Given the description of an element on the screen output the (x, y) to click on. 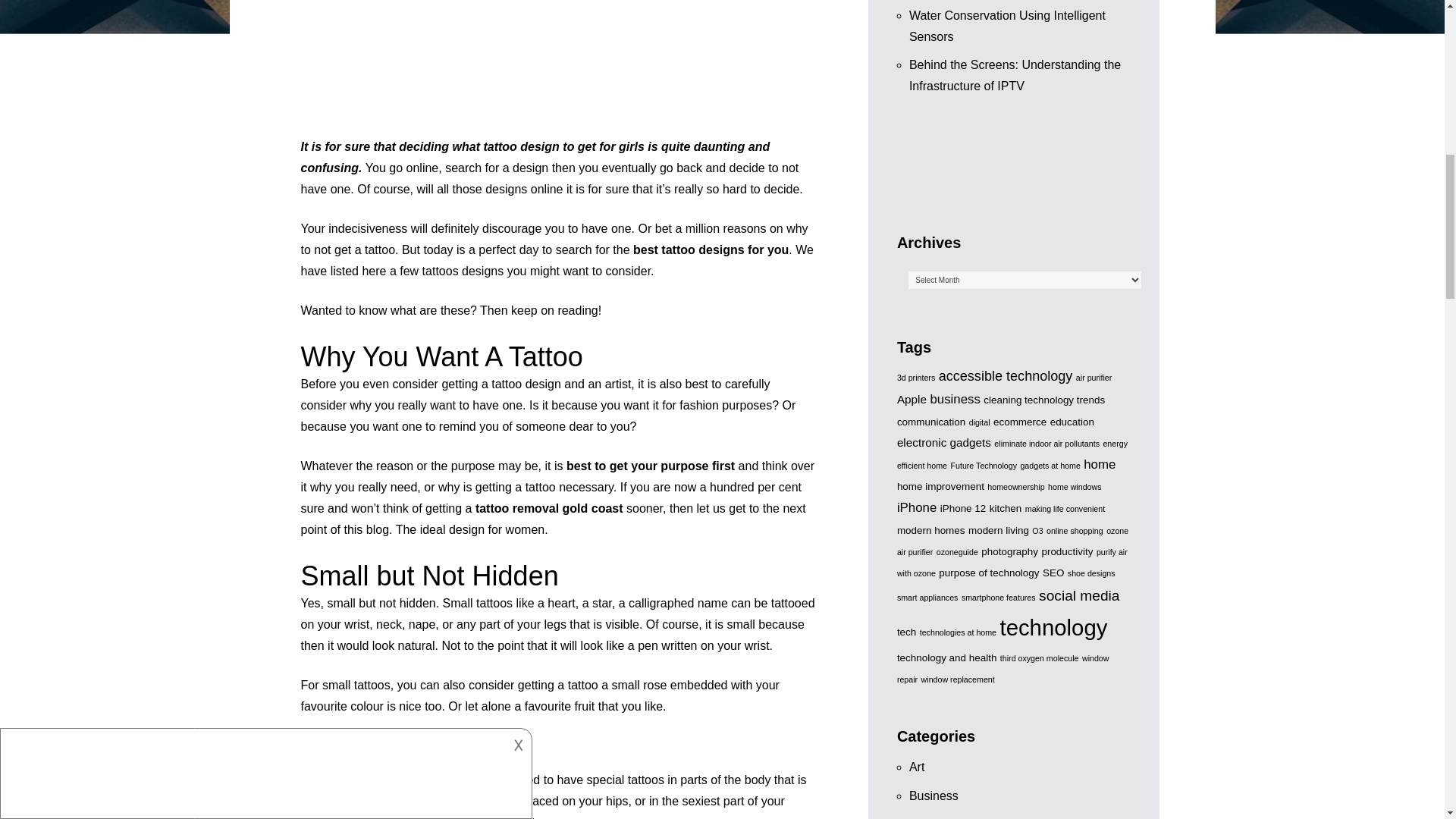
air purifier (1093, 377)
3d printers (915, 377)
Behind the Screens: Understanding the Infrastructure of IPTV (1014, 75)
cleaning technology trends (1044, 399)
accessible technology (1006, 376)
business (954, 399)
communication (930, 421)
Apple (911, 399)
Water Conservation Using Intelligent Sensors (1006, 26)
